Given the description of an element on the screen output the (x, y) to click on. 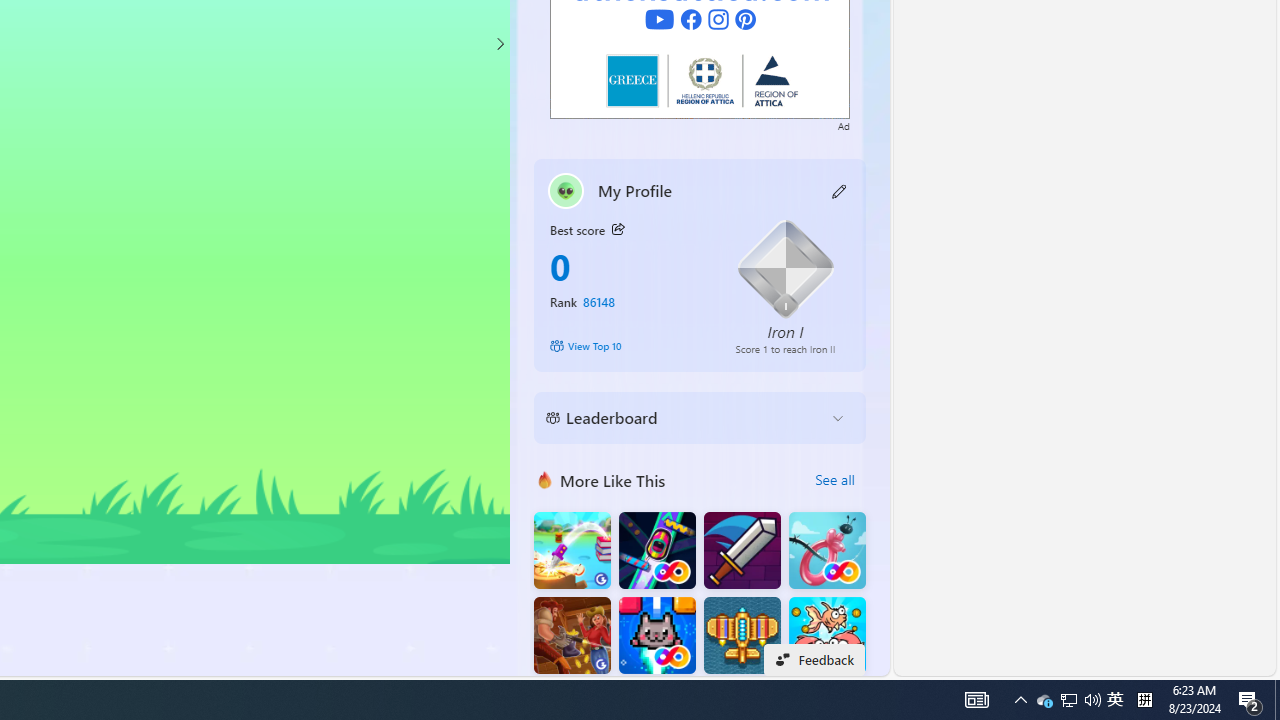
Atlantic Sky Hunter (742, 635)
View Top 10 (628, 345)
""'s avatar (565, 190)
Knife Flip (571, 550)
Leaderboard (683, 417)
